Given the description of an element on the screen output the (x, y) to click on. 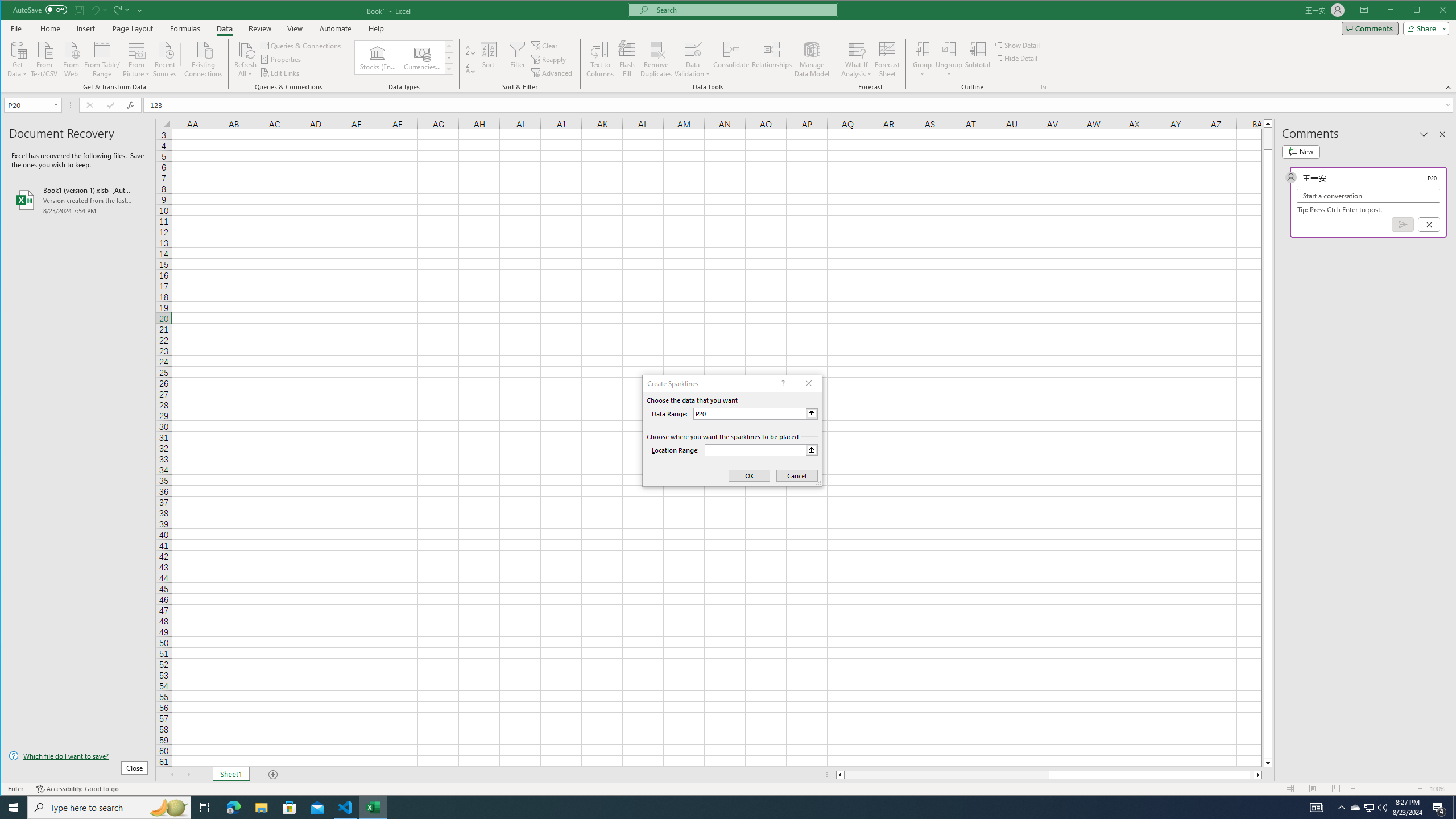
Group and Outline Settings (1043, 86)
Edit Links (279, 72)
Existing Connections (203, 57)
Which file do I want to save? (78, 755)
New comment (1300, 151)
Row Down (448, 57)
Queries & Connections (301, 45)
Data Types (448, 68)
